Given the description of an element on the screen output the (x, y) to click on. 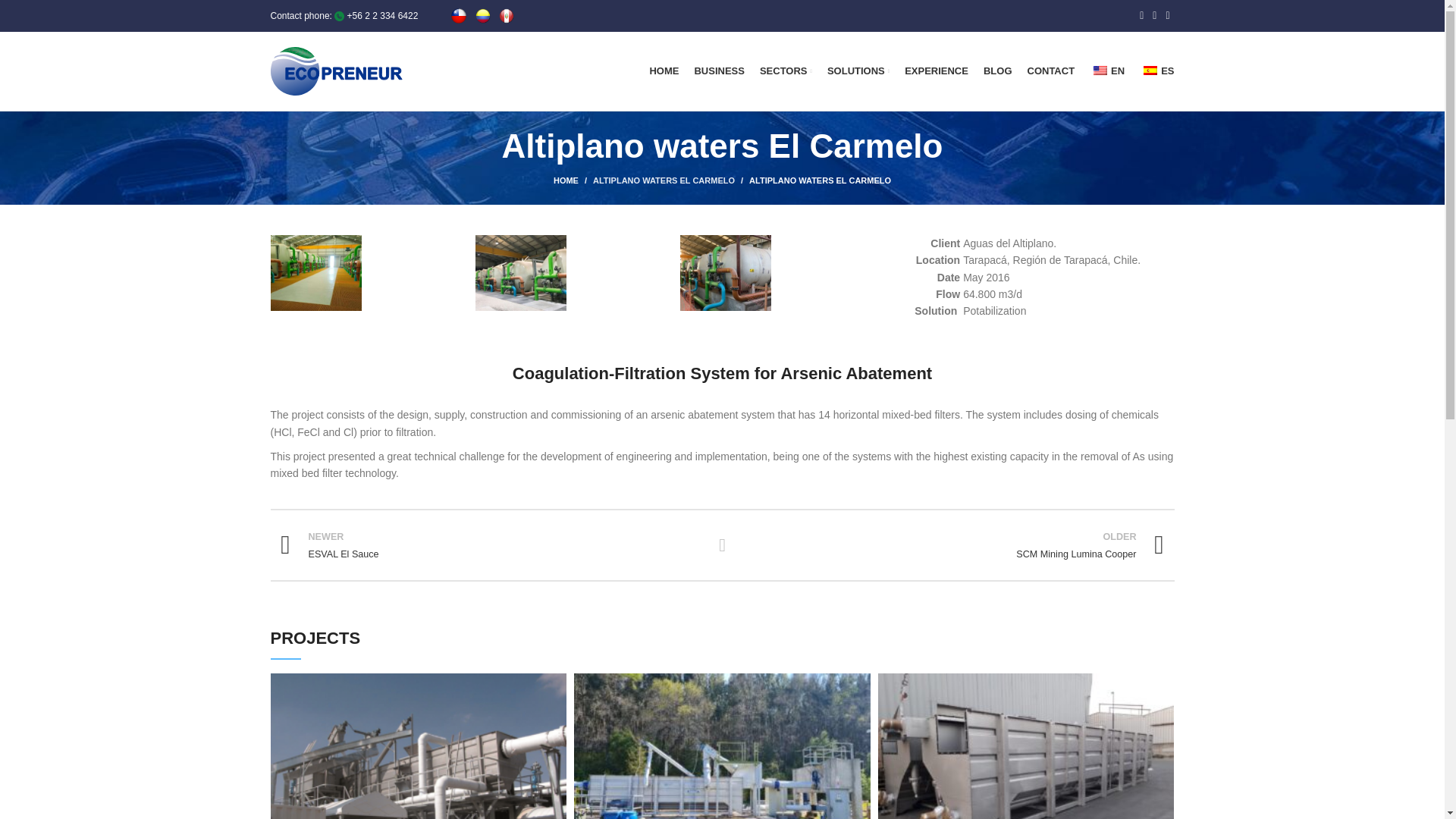
Colombia (483, 15)
HOME (489, 545)
BLOG (572, 180)
ES (997, 71)
CONTACT (1156, 71)
SECTORS (1050, 71)
EN (785, 71)
HOME (1106, 71)
SOLUTIONS (663, 71)
EXPERIENCE (857, 71)
BUSINESS (935, 71)
English (718, 71)
Chili (1099, 70)
ALTIPLANO WATERS EL CARMELO (458, 15)
